Given the description of an element on the screen output the (x, y) to click on. 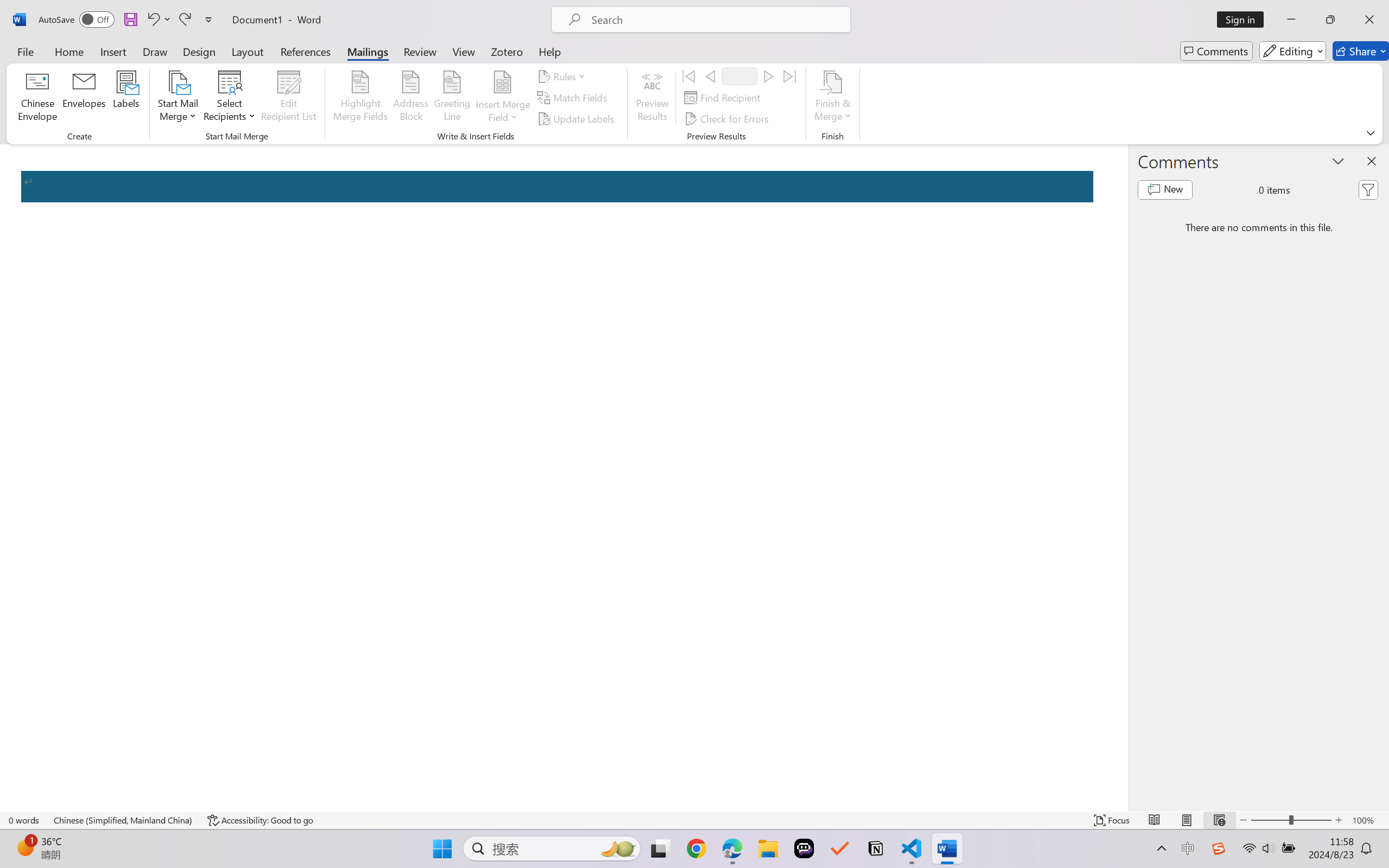
Subscriptions - YouTube (732, 12)
Sign in - Google Accounts (388, 12)
On startup (67, 271)
Sign in - Google Accounts (1160, 12)
Default browser (67, 247)
Google Cybersecurity Innovations - Google Safety Center (1117, 12)
Sign in - Google Accounts (817, 12)
Languages (67, 306)
Sign in - Google Accounts (1074, 12)
Reset settings (67, 402)
